Given the description of an element on the screen output the (x, y) to click on. 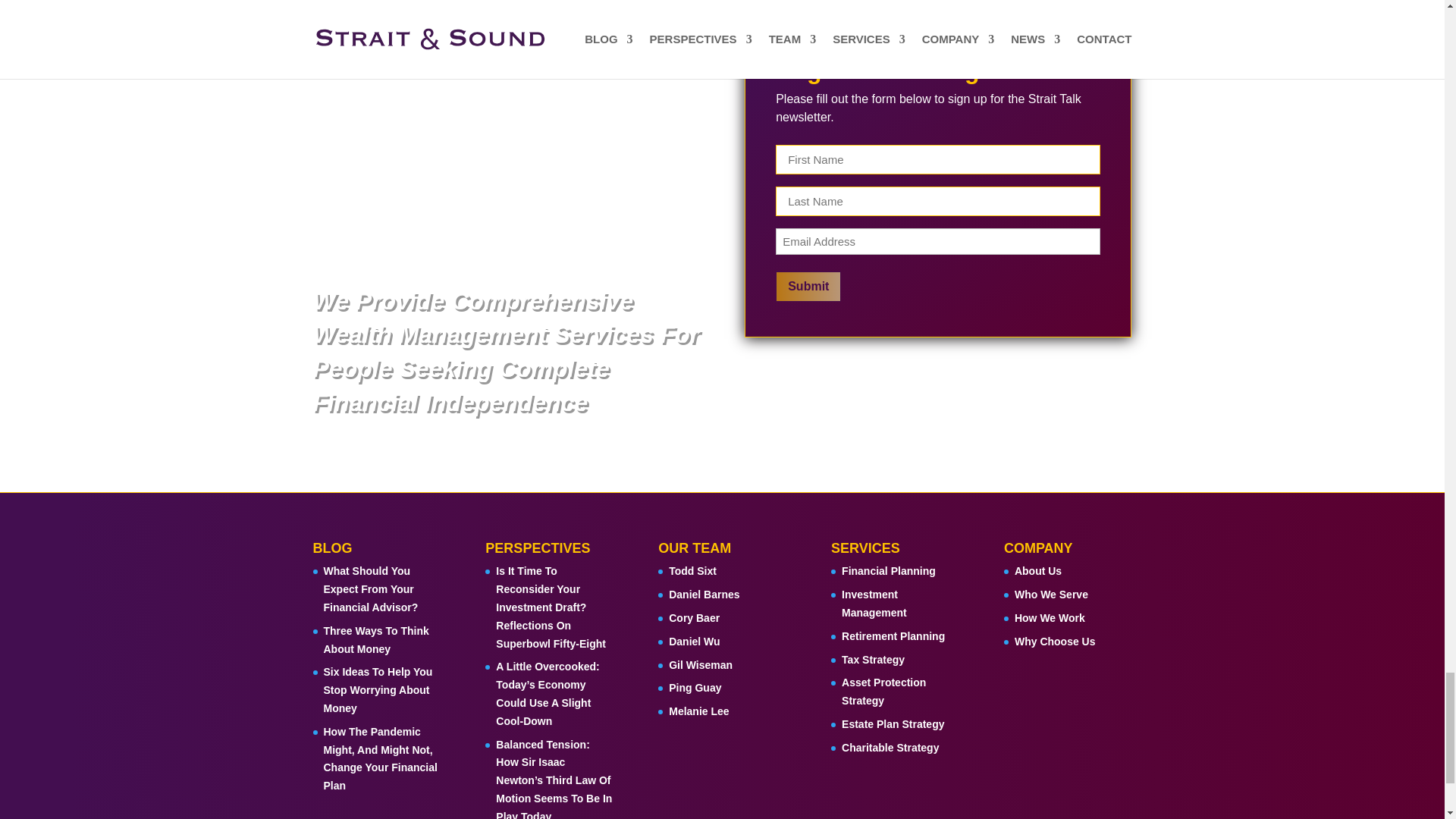
Submit (808, 286)
